Given the description of an element on the screen output the (x, y) to click on. 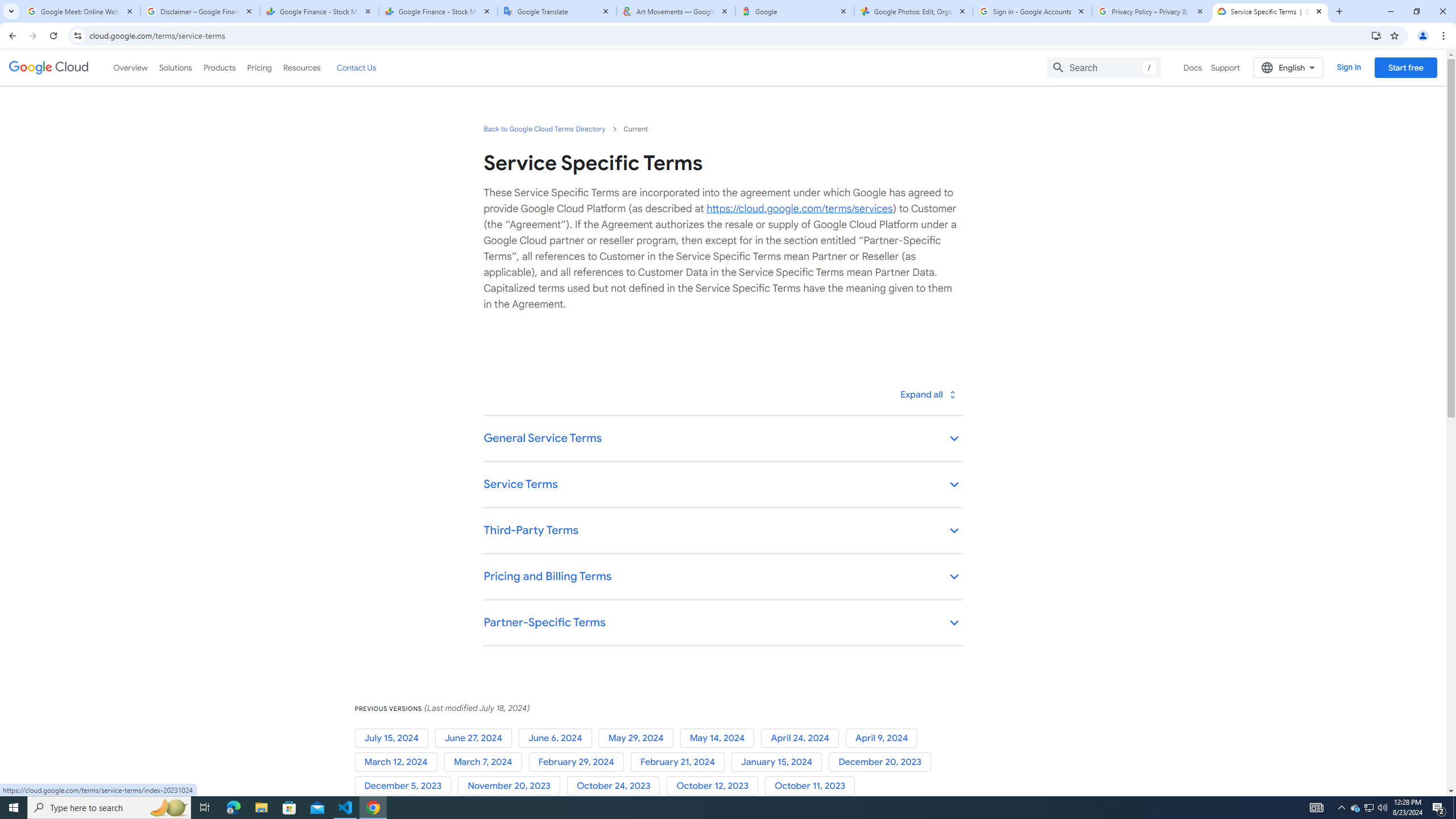
Toggle all (927, 393)
Google Translate (556, 11)
https://cloud.google.com/terms/services (799, 208)
Install Google Cloud (1376, 35)
Solutions (175, 67)
July 15, 2024 (394, 737)
December 5, 2023 (405, 786)
General Service Terms keyboard_arrow_down (722, 439)
June 6, 2024 (558, 737)
